Given the description of an element on the screen output the (x, y) to click on. 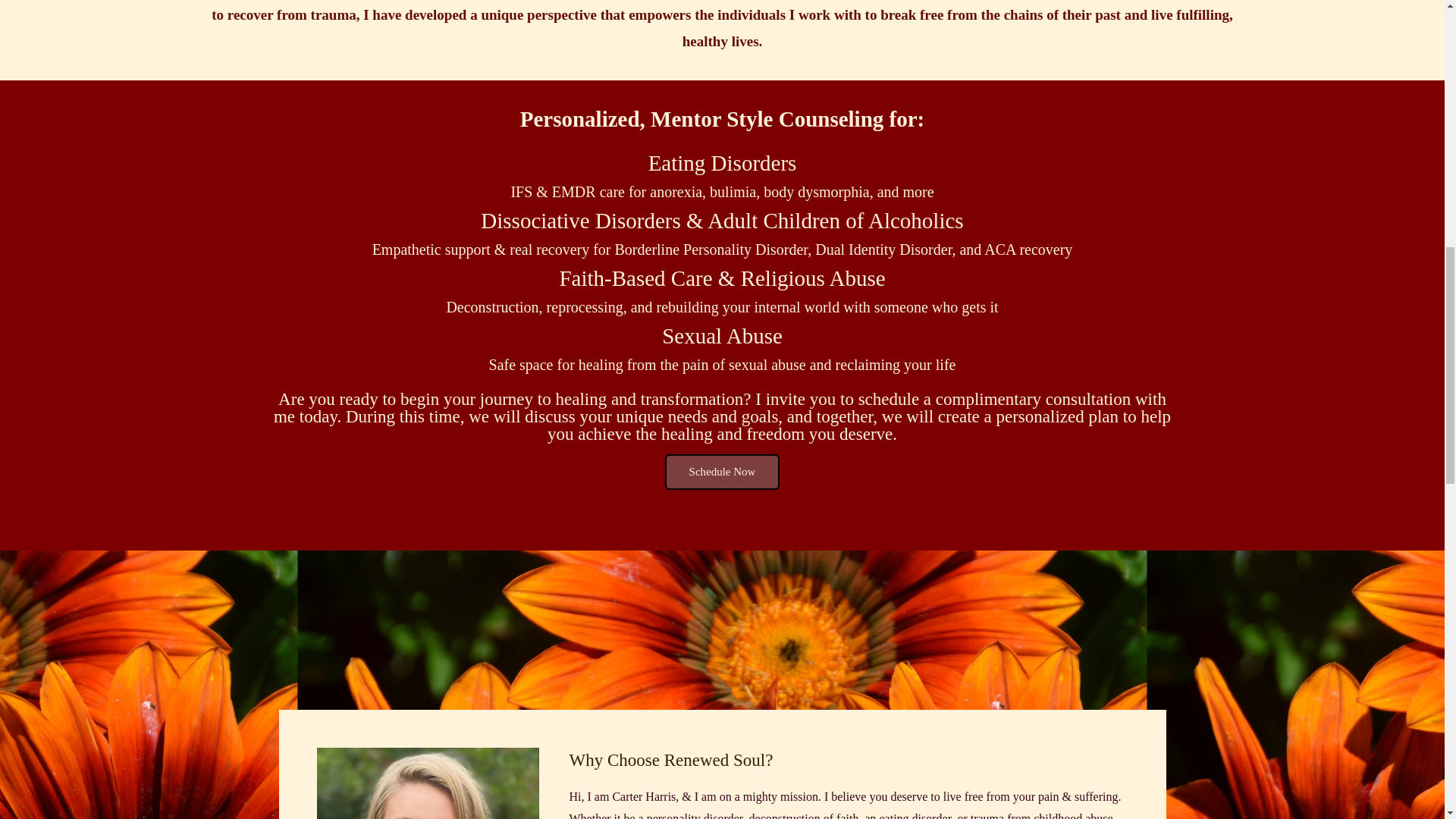
Schedule Now (722, 471)
